Given the description of an element on the screen output the (x, y) to click on. 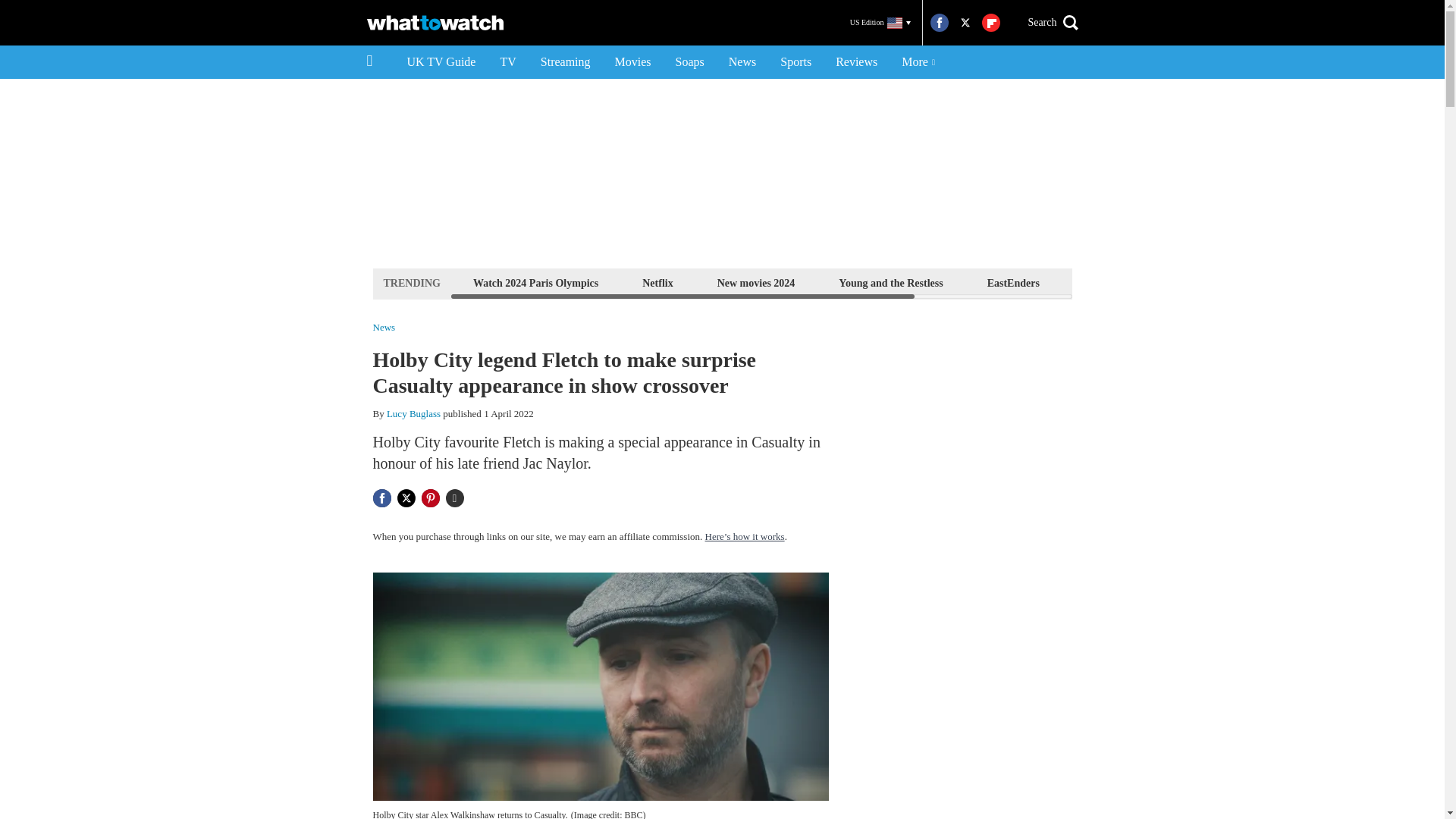
Coronation Street (1220, 282)
Emmerdale (1109, 282)
Watch 2024 Paris Olympics (535, 282)
New movies 2024 (755, 282)
Reviews (856, 61)
Movies (632, 61)
News (742, 61)
Sports (796, 61)
Netflix (657, 282)
Lucy Buglass (414, 413)
UK TV Guide (440, 61)
Young and the Restless (889, 282)
Streaming (565, 61)
EastEnders (1013, 282)
Soaps (689, 61)
